Given the description of an element on the screen output the (x, y) to click on. 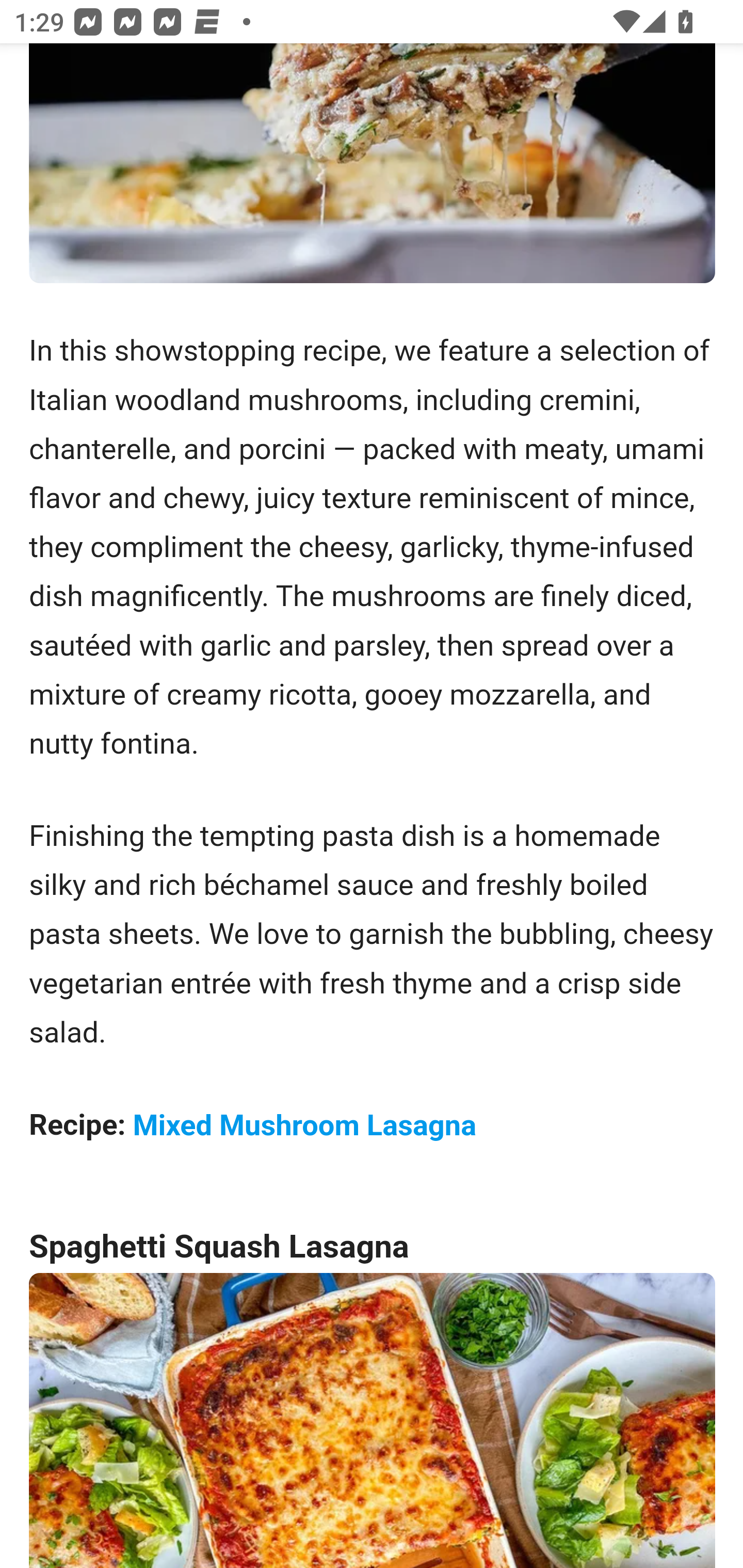
Mixed Mushroom Lasagna (304, 1125)
